Given the description of an element on the screen output the (x, y) to click on. 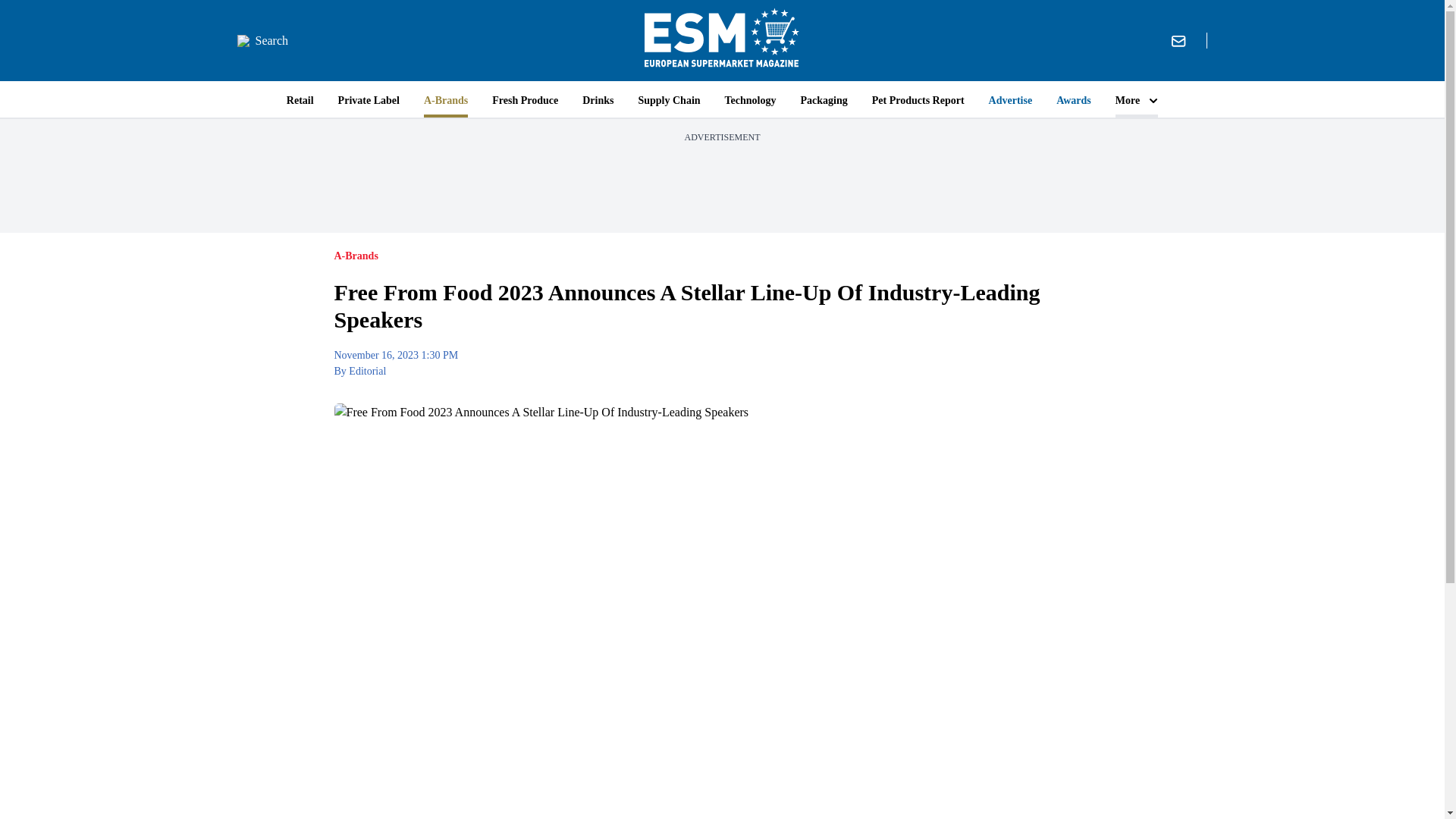
ESM (722, 40)
Search (261, 40)
